Given the description of an element on the screen output the (x, y) to click on. 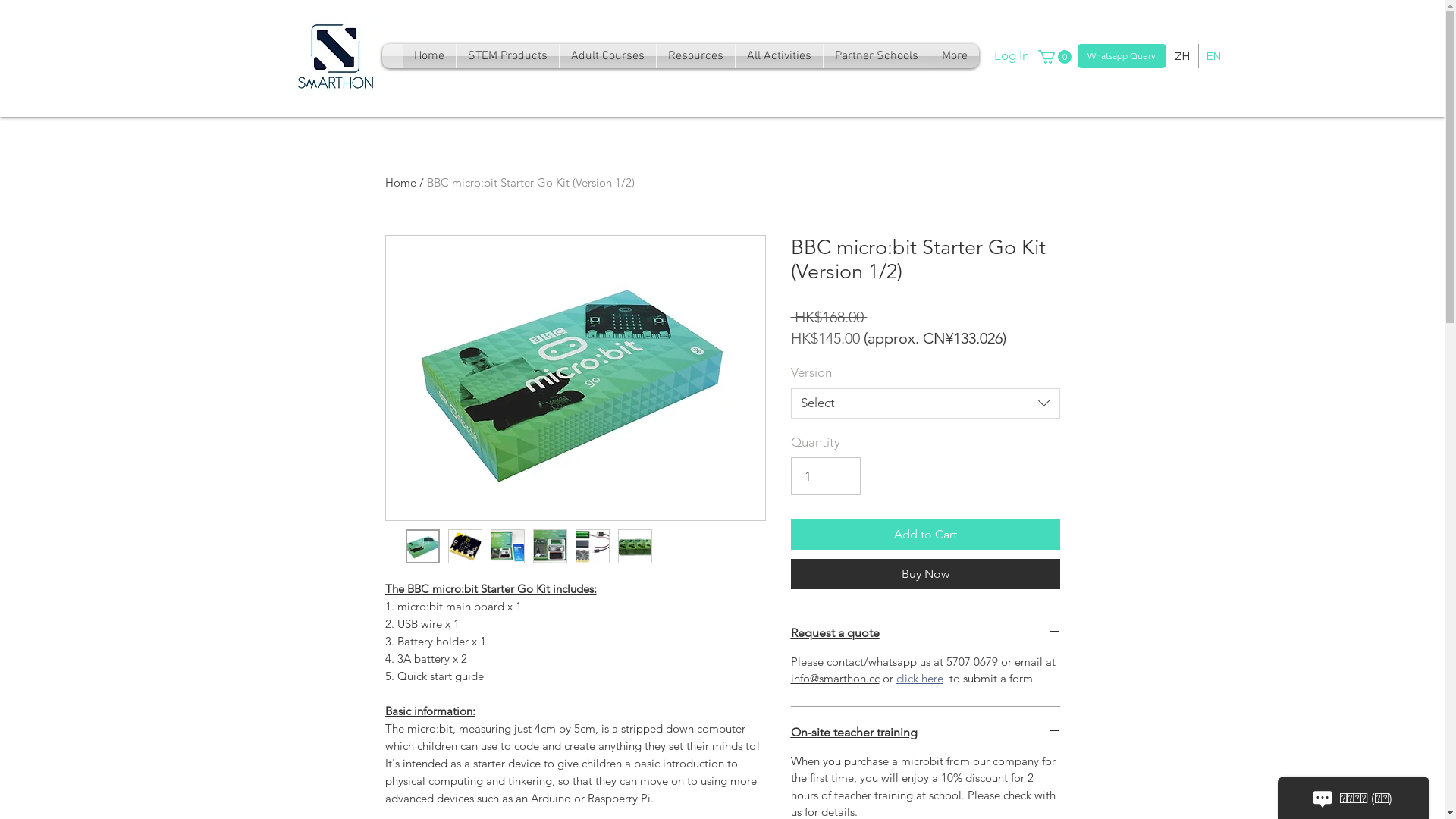
Currency Converter Element type: hover (875, 579)
STEM Products Element type: text (507, 55)
Whatsapp Query Element type: text (1120, 55)
ZH Element type: text (1181, 55)
EN Element type: text (1213, 55)
Request a quote Element type: text (924, 632)
Add to Cart Element type: text (924, 534)
click here Element type: text (919, 678)
On-site teacher training Element type: text (924, 732)
Home Element type: text (400, 182)
0 Element type: text (1053, 56)
Log In Element type: text (996, 55)
BBC micro:bit Starter Go Kit (Version 1/2) Element type: text (529, 182)
Partner Schools Element type: text (876, 55)
Buy Now Element type: text (924, 573)
Select Element type: text (924, 403)
Home Element type: text (428, 55)
Adult Courses Element type: text (607, 55)
